Given the description of an element on the screen output the (x, y) to click on. 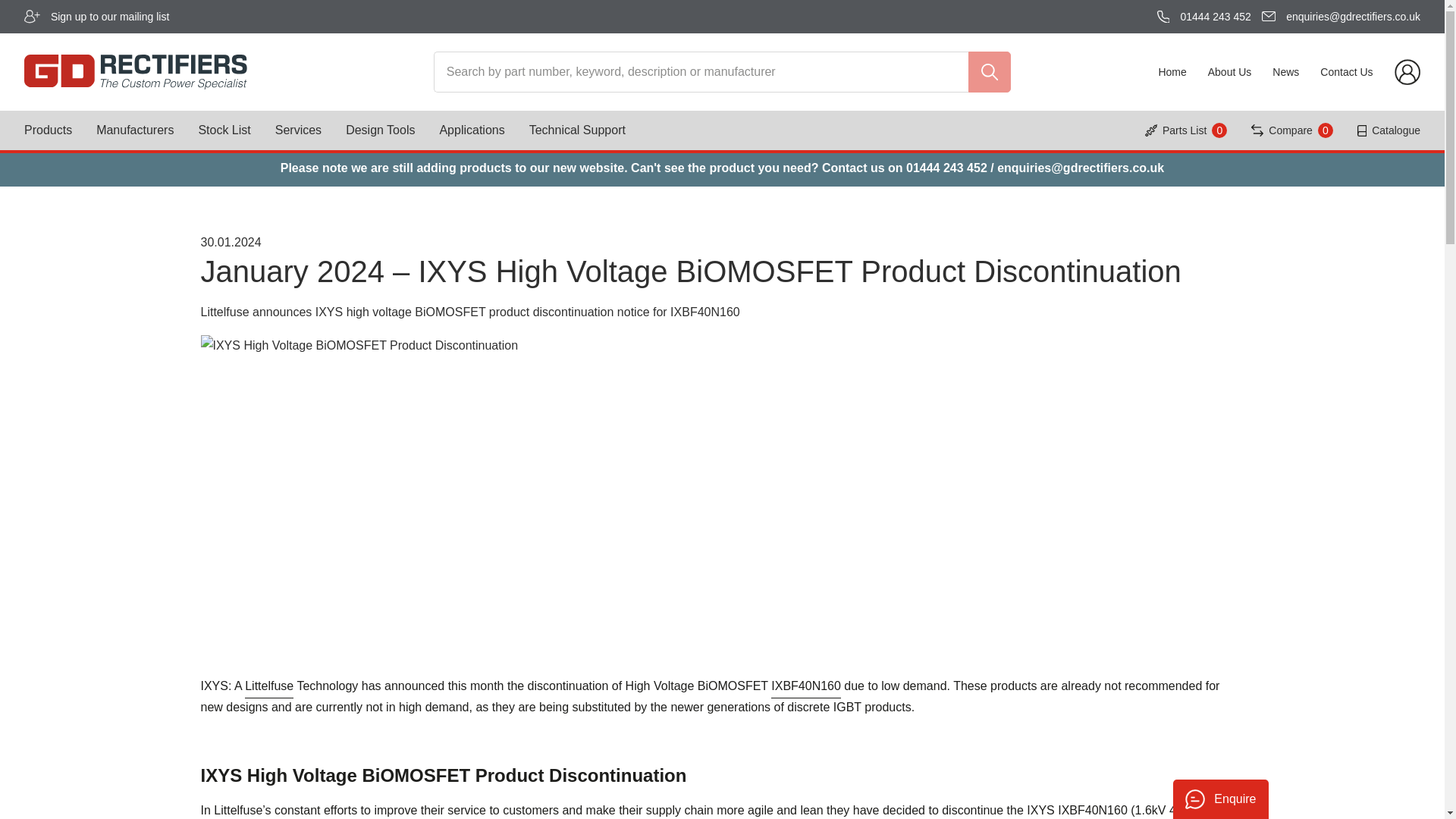
My Account (1407, 71)
News (1285, 71)
GD Rectifiers (216, 71)
01444 243 452 (1214, 16)
Home (1171, 71)
Contact Us (1346, 71)
Search (989, 71)
About Us (1230, 71)
Products (47, 129)
Sign up to our mailing list (109, 16)
